Given the description of an element on the screen output the (x, y) to click on. 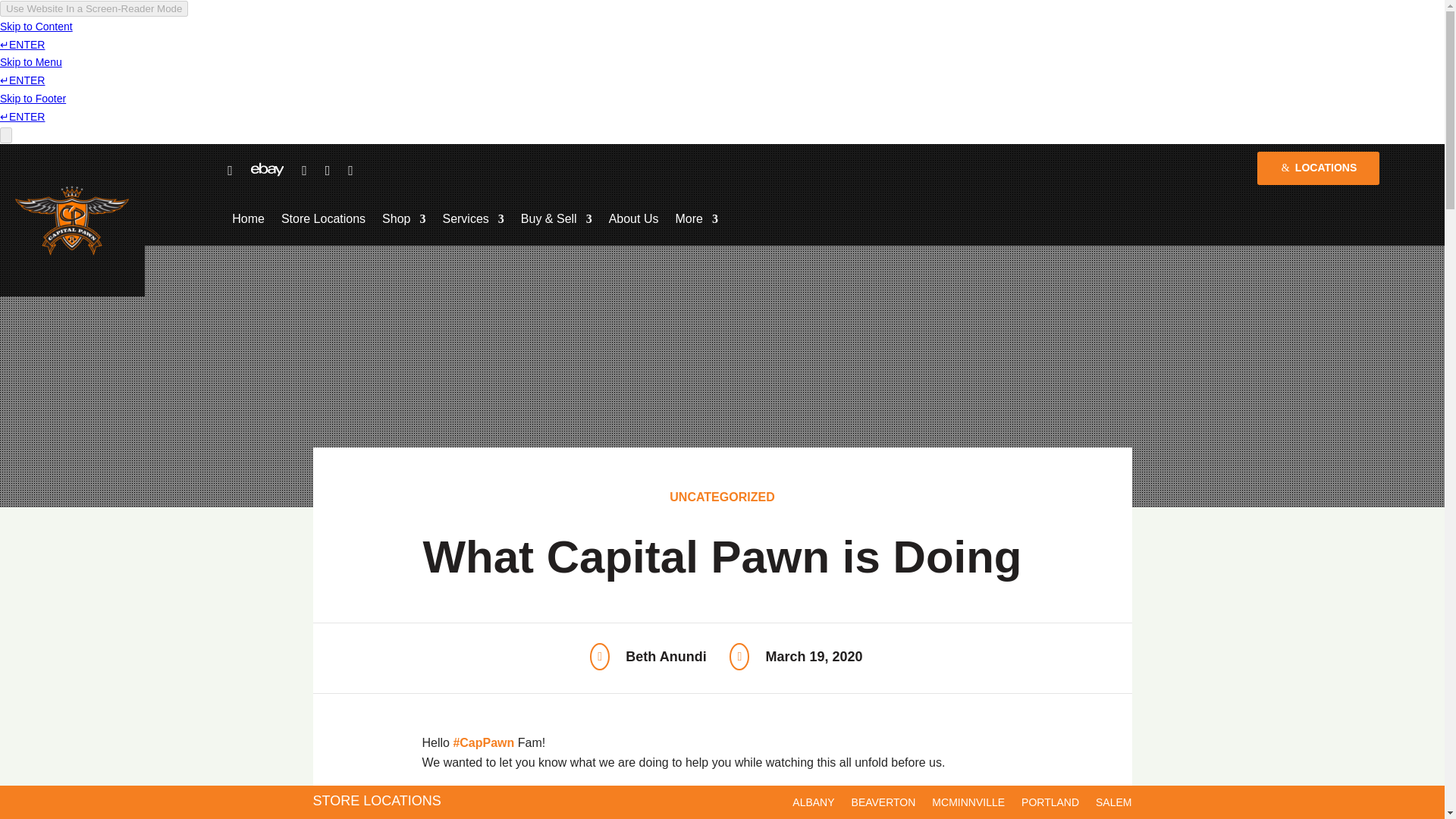
Home (247, 221)
About Us (633, 221)
Logo (71, 220)
More (696, 221)
Facebook (229, 170)
Services (472, 221)
Google (350, 170)
Store Locations (323, 221)
LOCATIONS (1317, 168)
Youtube (327, 170)
Yelp (304, 170)
Shop (403, 221)
ebay (267, 164)
